Given the description of an element on the screen output the (x, y) to click on. 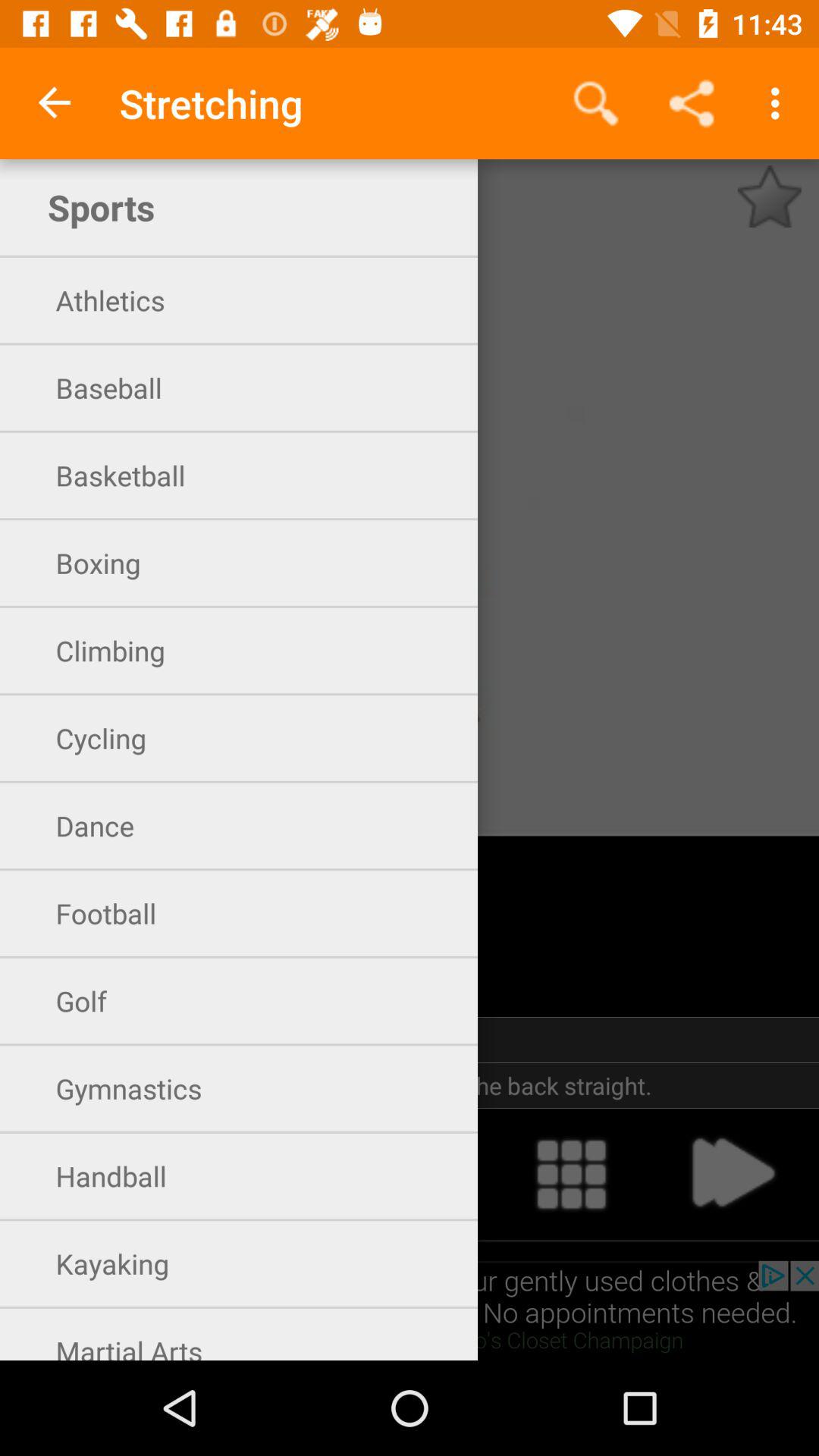
add to favorites (769, 196)
